Given the description of an element on the screen output the (x, y) to click on. 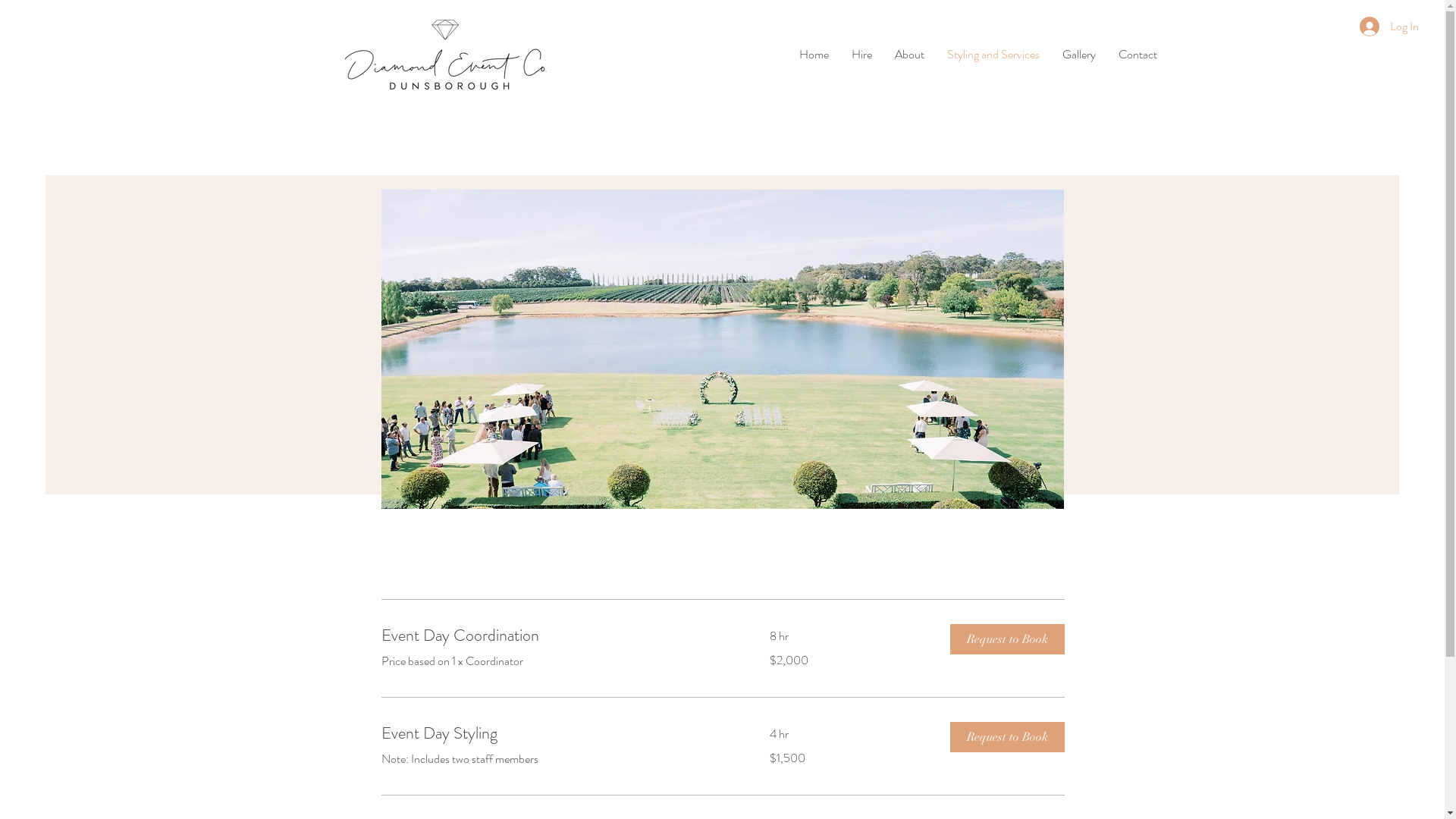
Contact Element type: text (1137, 54)
Gallery Element type: text (1079, 54)
Styling and Services Element type: text (993, 54)
Event Day Coordination Element type: text (556, 635)
Log In Element type: text (1385, 26)
Event Day Styling Element type: text (556, 732)
About Element type: text (908, 54)
Request to Book Element type: text (1006, 736)
Home Element type: text (813, 54)
Request to Book Element type: text (1006, 639)
Hire Element type: text (861, 54)
